Given the description of an element on the screen output the (x, y) to click on. 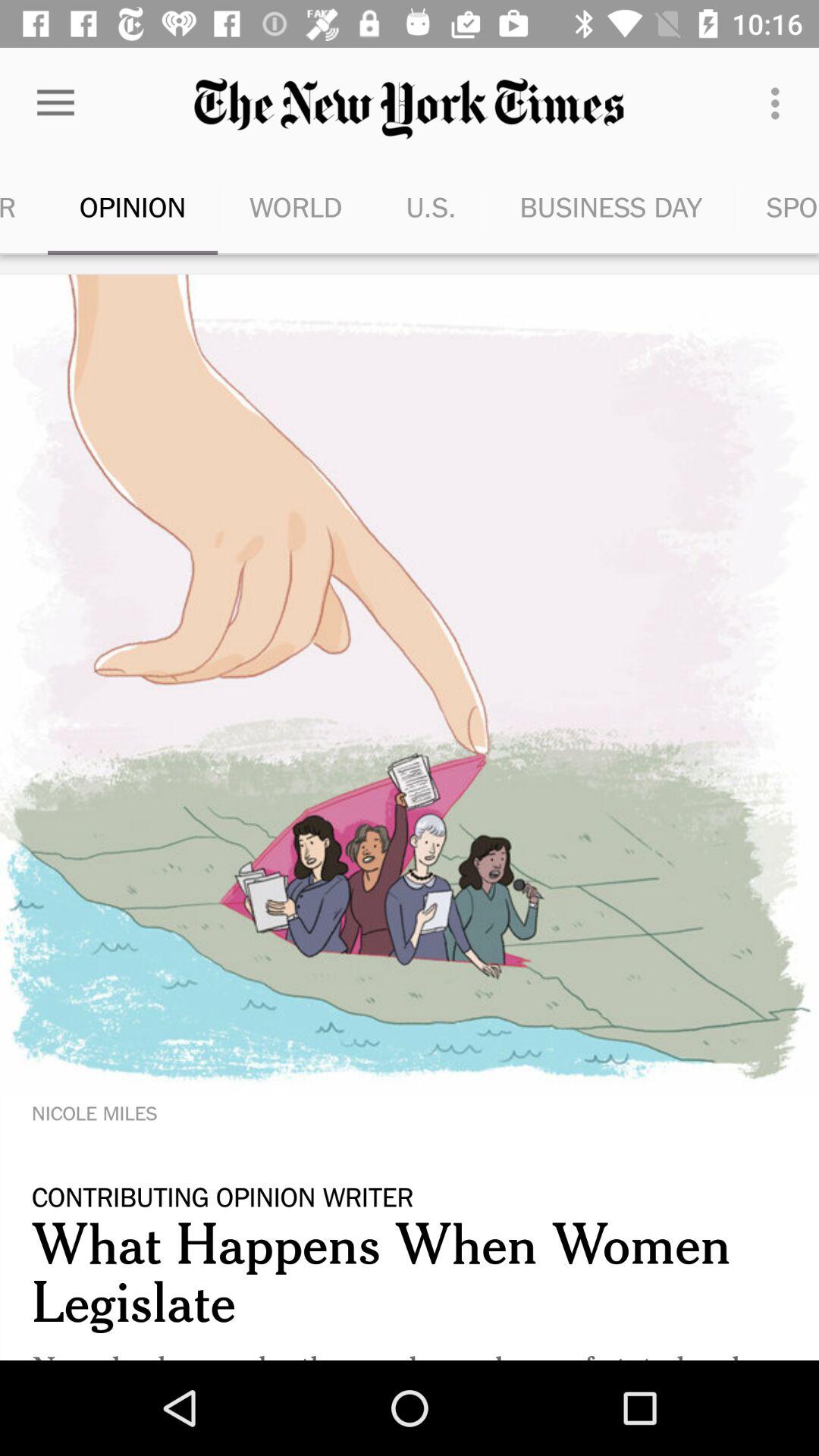
jump until the most popular item (23, 206)
